Given the description of an element on the screen output the (x, y) to click on. 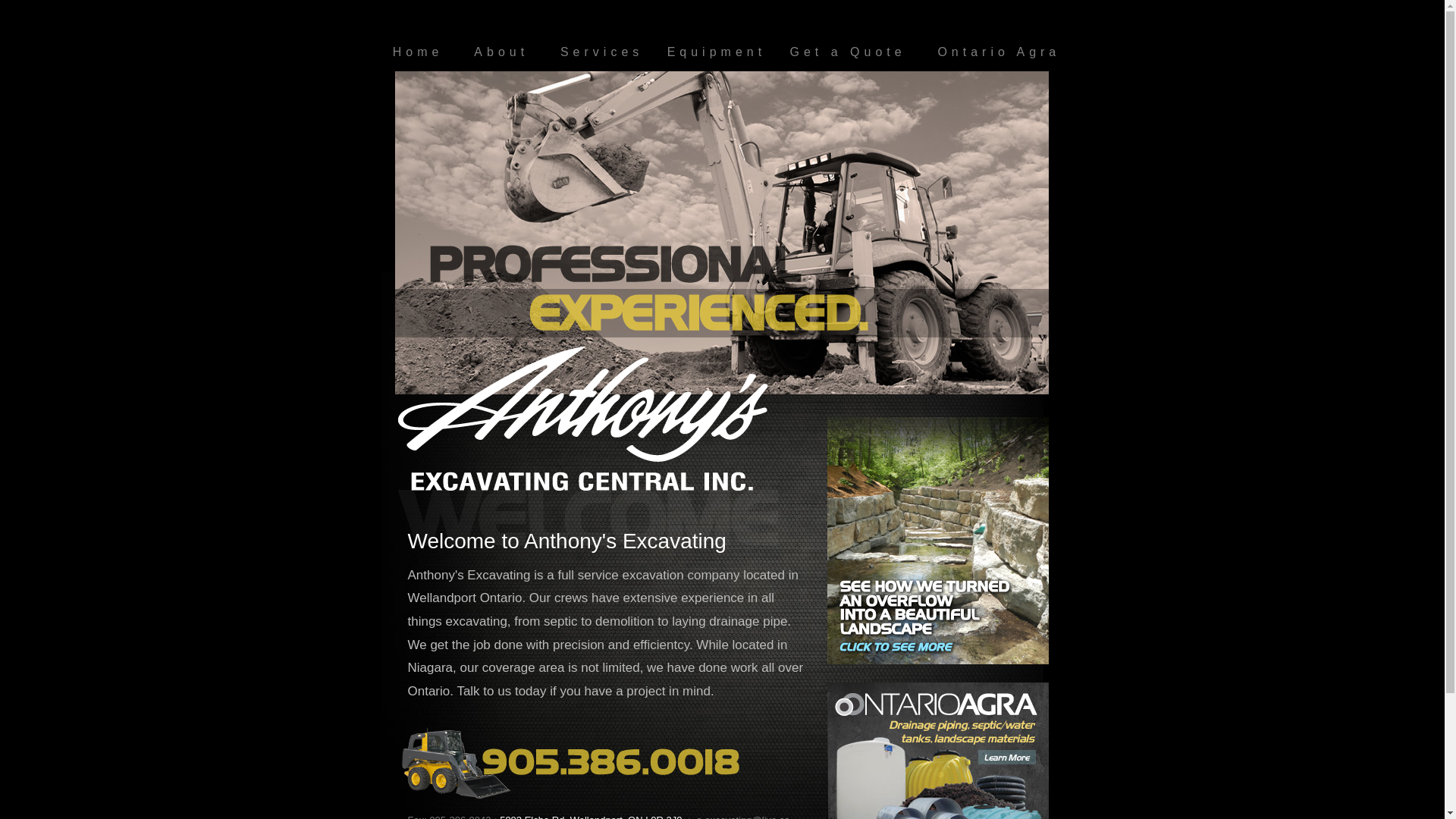
Home Element type: text (417, 51)
About Element type: text (500, 51)
Get a Quote Element type: text (847, 51)
Ontario Agra Element type: text (998, 51)
Equipment Element type: text (716, 51)
Services Element type: text (601, 51)
